Given the description of an element on the screen output the (x, y) to click on. 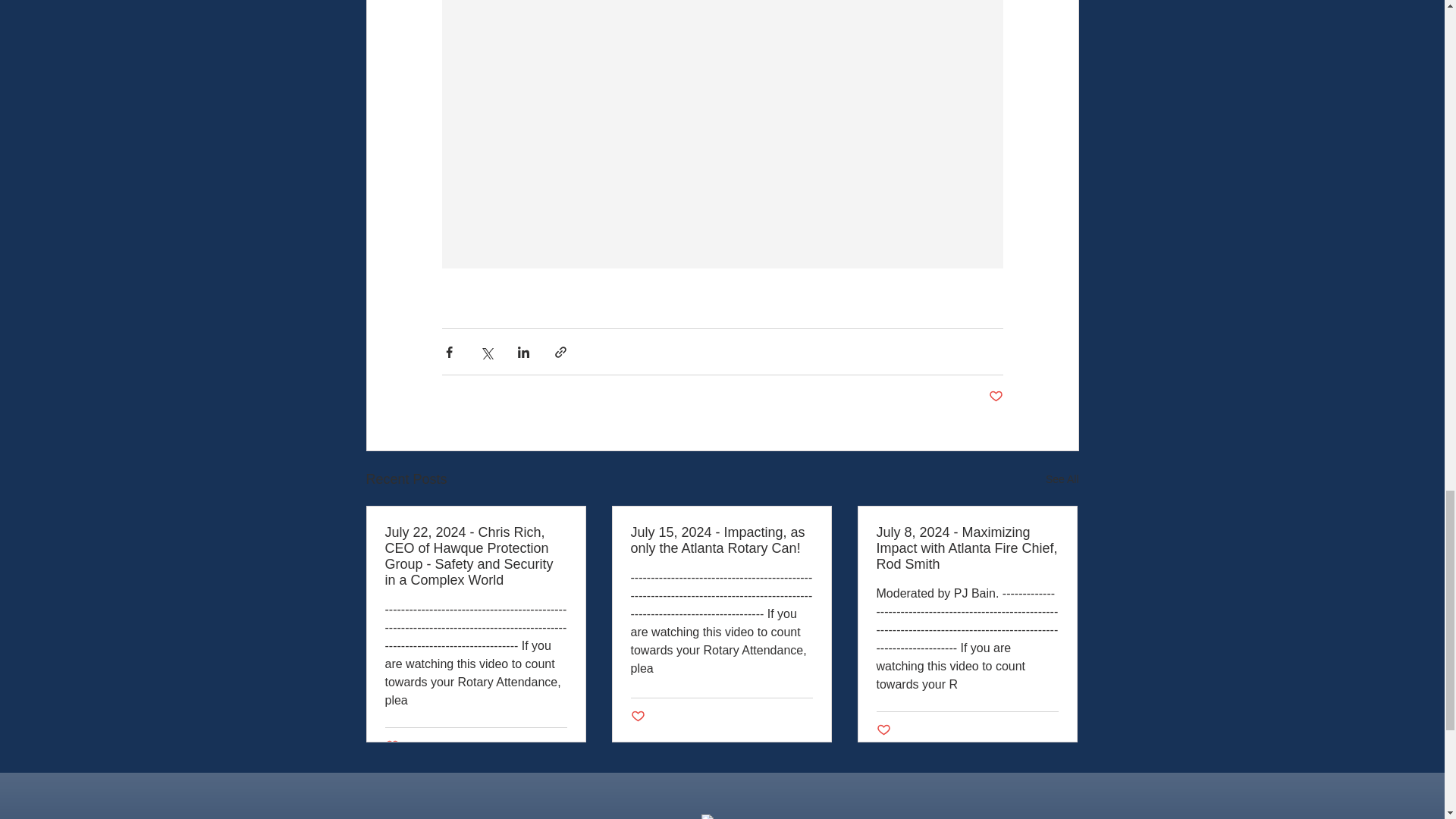
Post not marked as liked (995, 396)
July 15, 2024 - Impacting, as only the Atlanta Rotary Can! (721, 540)
See All (1061, 479)
Post not marked as liked (391, 746)
Post not marked as liked (637, 716)
Post not marked as liked (883, 730)
